Given the description of an element on the screen output the (x, y) to click on. 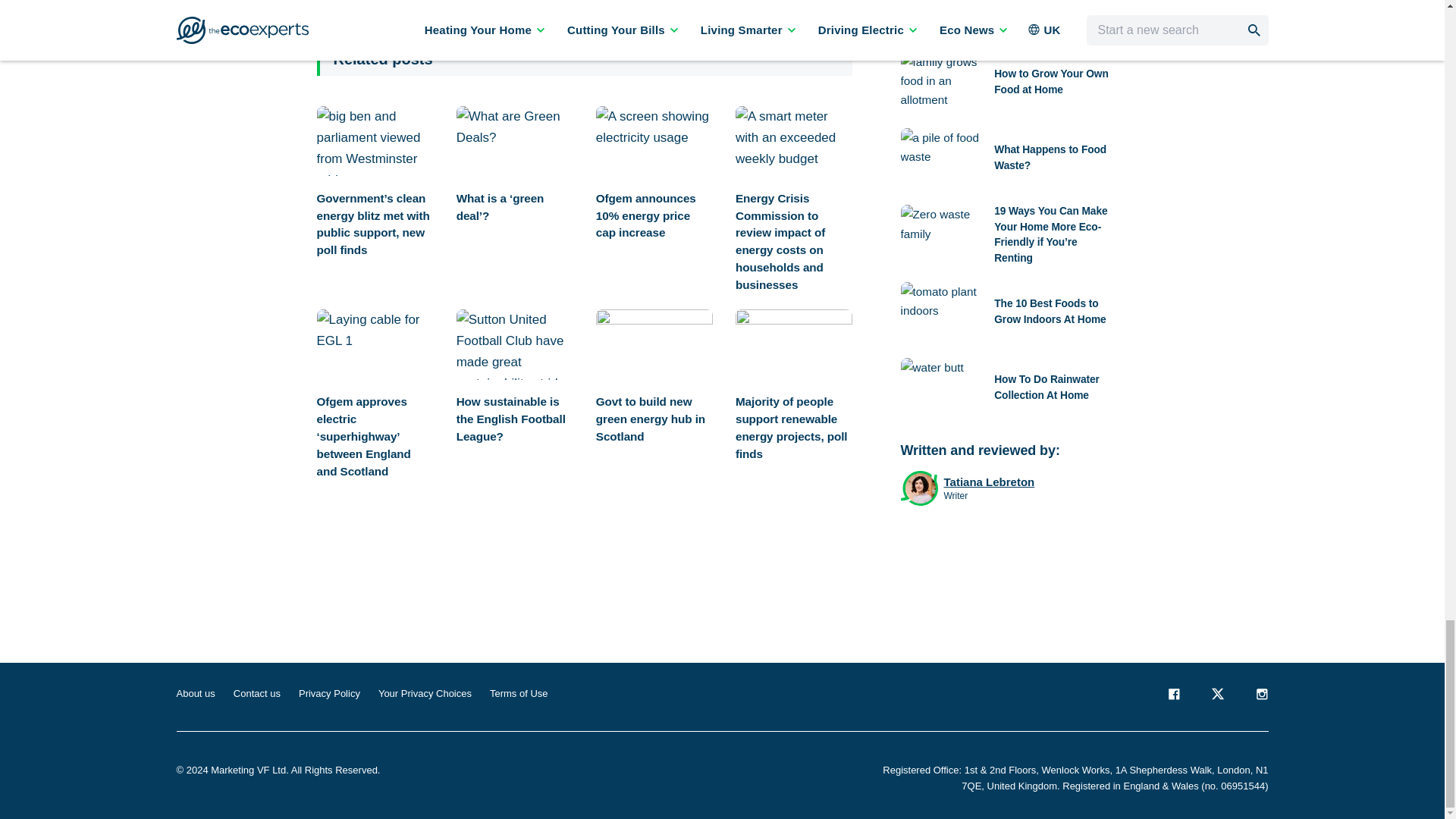
instagram (1260, 696)
facebook (1172, 696)
twitter-x (1216, 696)
